Given the description of an element on the screen output the (x, y) to click on. 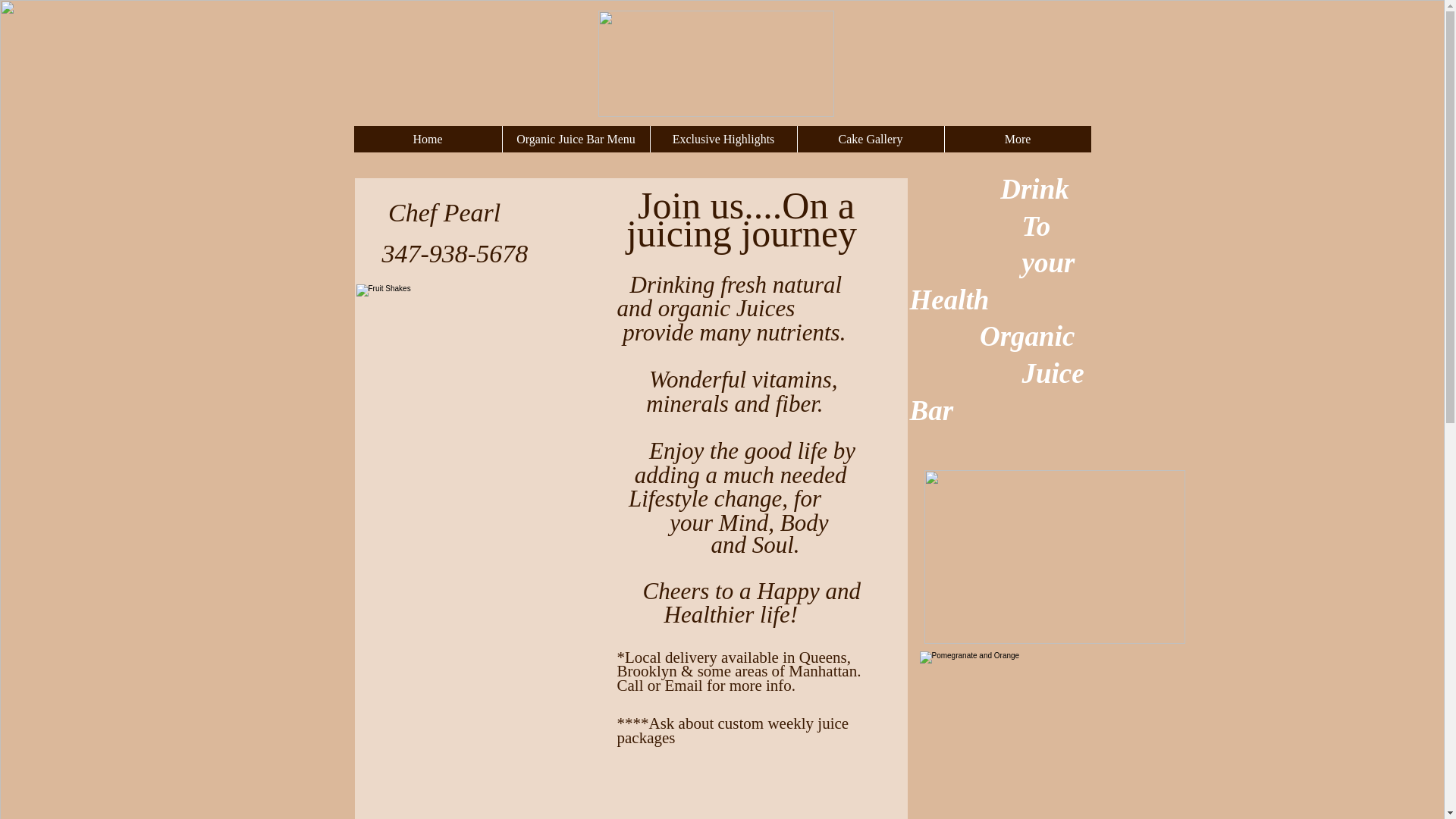
Cake Gallery (869, 139)
Organic Juice Bar Menu (575, 139)
Exclusive Highlights (722, 139)
Home (426, 139)
tn.jpg (714, 63)
